Given the description of an element on the screen output the (x, y) to click on. 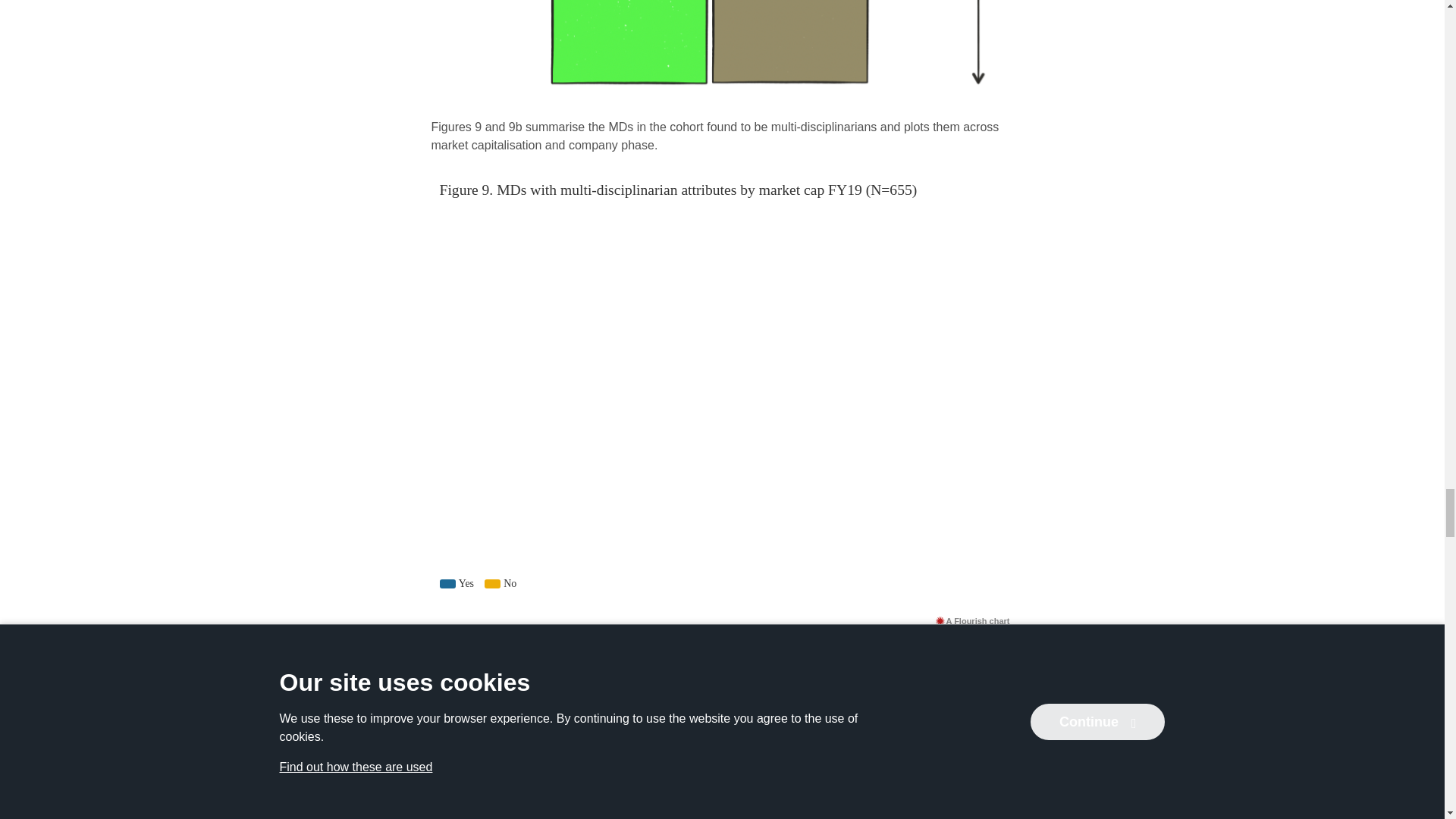
A Flourish chart (972, 620)
Interactive or visual content (721, 724)
